Given the description of an element on the screen output the (x, y) to click on. 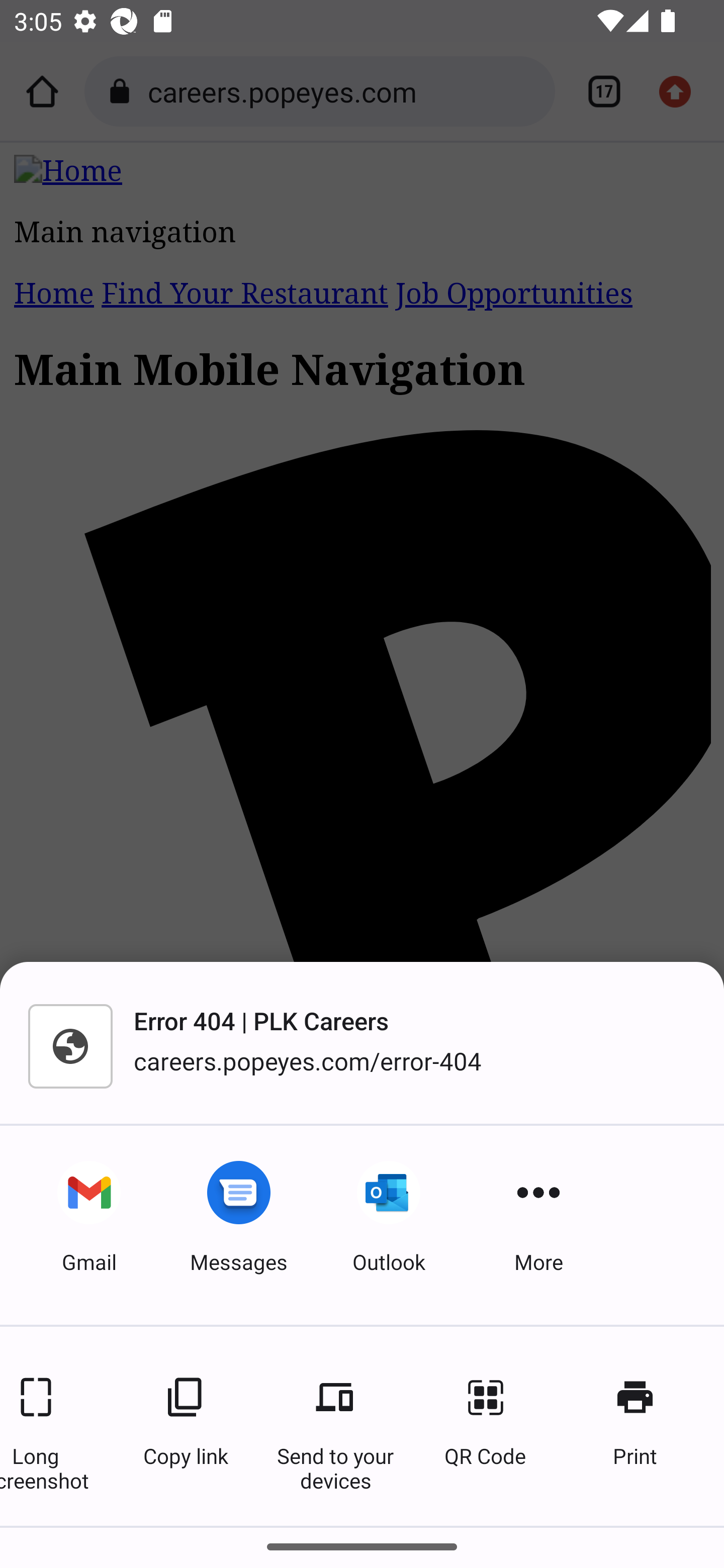
Gmail (88, 1224)
Messages (238, 1224)
Outlook (388, 1224)
More (538, 1224)
Long Screenshot (48, 1425)
Copy link (185, 1425)
Send to your devices (335, 1425)
QR Code (484, 1425)
Print (634, 1425)
